Given the description of an element on the screen output the (x, y) to click on. 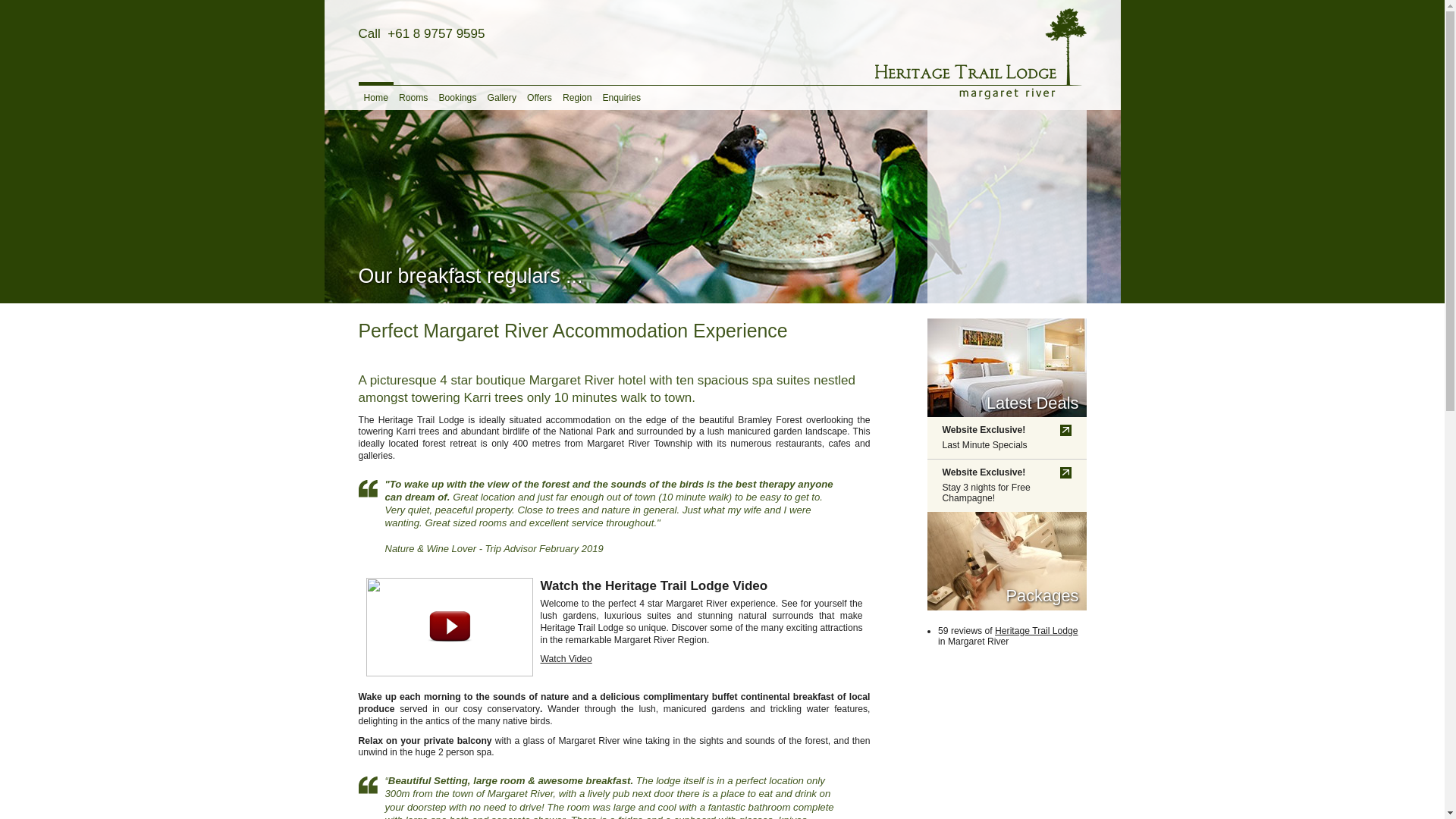
Website Exclusive!
Stay 3 nights for Free Champagne! Element type: text (1005, 485)
+61 8 9757 9595 Element type: text (435, 33)
Heritage Trail Lodge Element type: text (1035, 630)
Gallery Element type: text (501, 95)
Website Exclusive!
Last Minute Specials Element type: text (1005, 438)
Offers Element type: text (539, 95)
Bookings Element type: text (457, 95)
Enquiries Element type: text (621, 95)
Region Element type: text (577, 95)
Our breakfast regulars ... Element type: text (722, 151)
Latest
Margaret River Accommodation
Deals Element type: text (1005, 367)
Home Element type: text (374, 95)
Heritage Trail Lodge Element type: text (980, 54)
Rooms Element type: text (413, 95)
Margaret River Accommodation
Packages Element type: text (1005, 560)
